Given the description of an element on the screen output the (x, y) to click on. 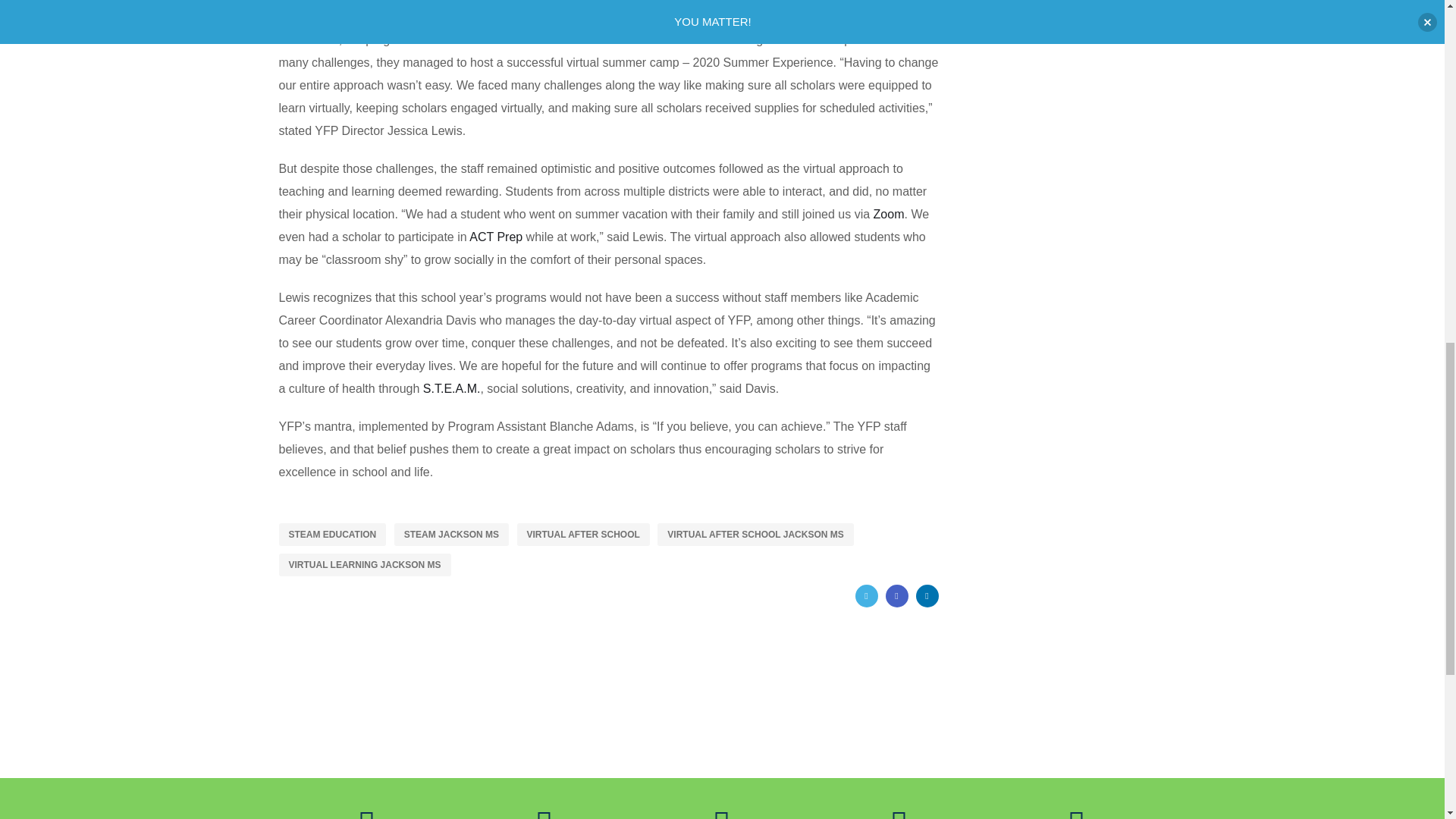
Twitter (866, 595)
LinkedIn (927, 595)
Facebook (896, 595)
